Given the description of an element on the screen output the (x, y) to click on. 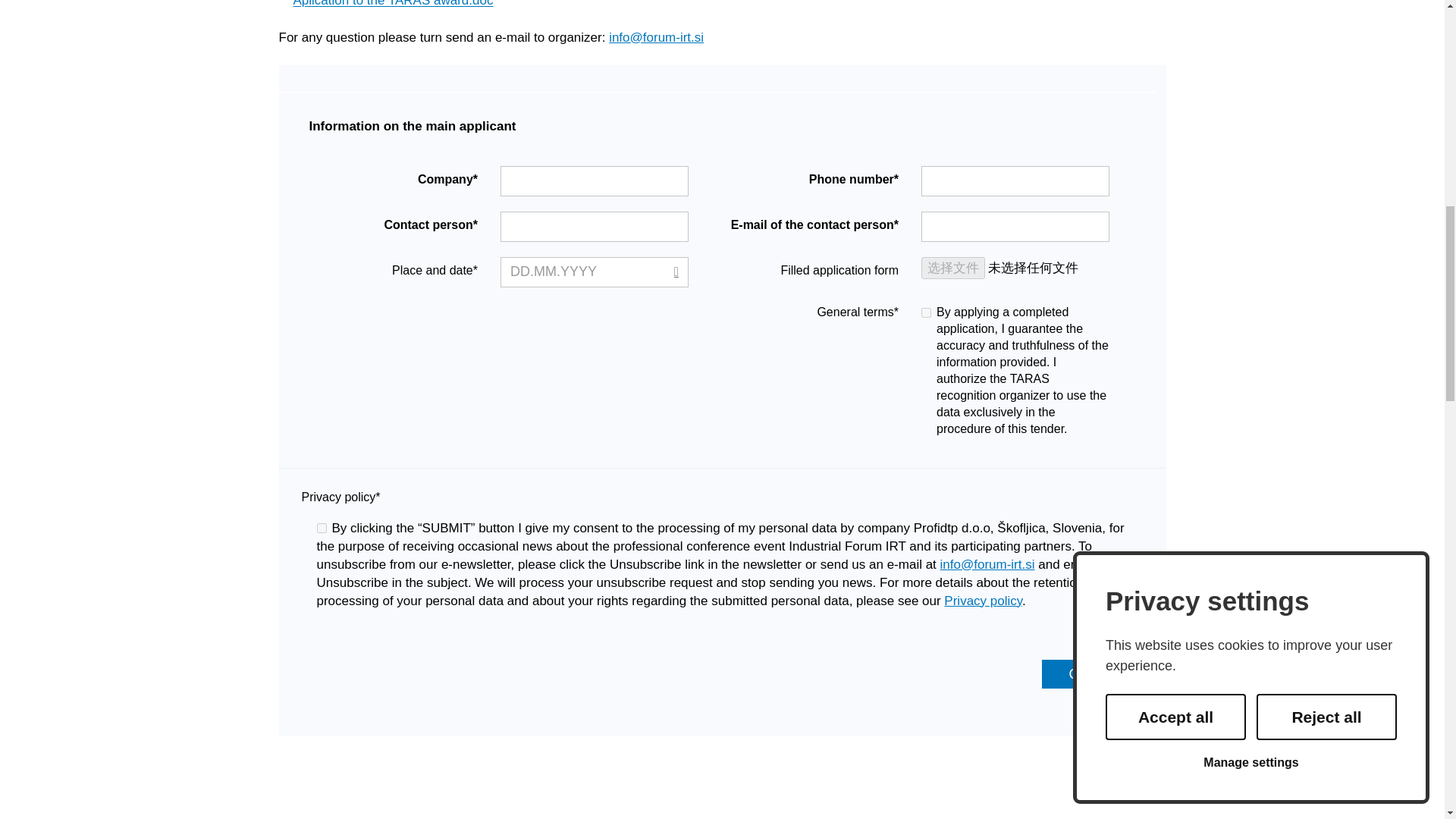
Soglasje (321, 528)
Privacy policy (982, 599)
Confirm (1092, 674)
Aplication to the TARAS award.doc (386, 4)
